Given the description of an element on the screen output the (x, y) to click on. 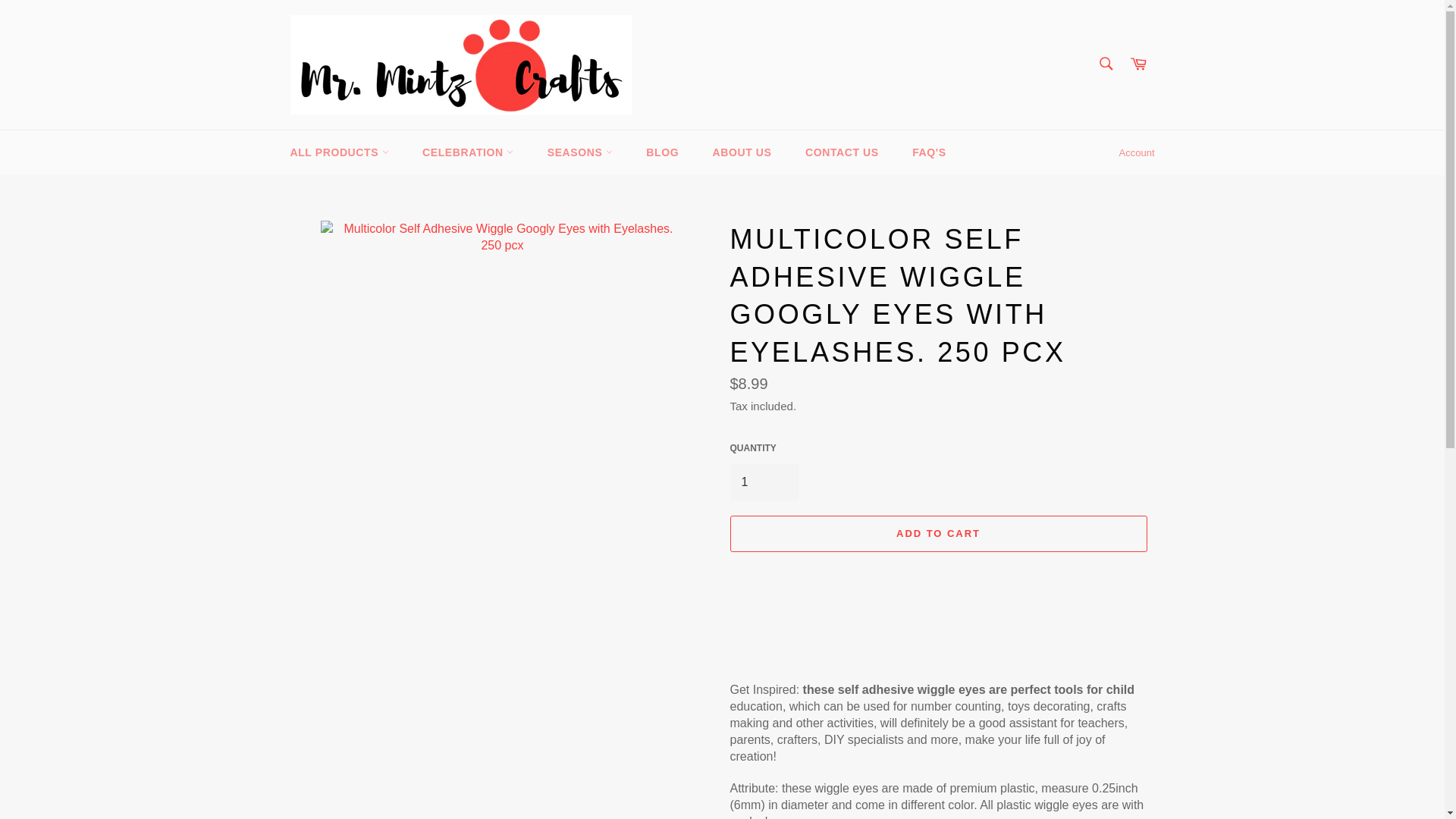
1 (763, 482)
